Given the description of an element on the screen output the (x, y) to click on. 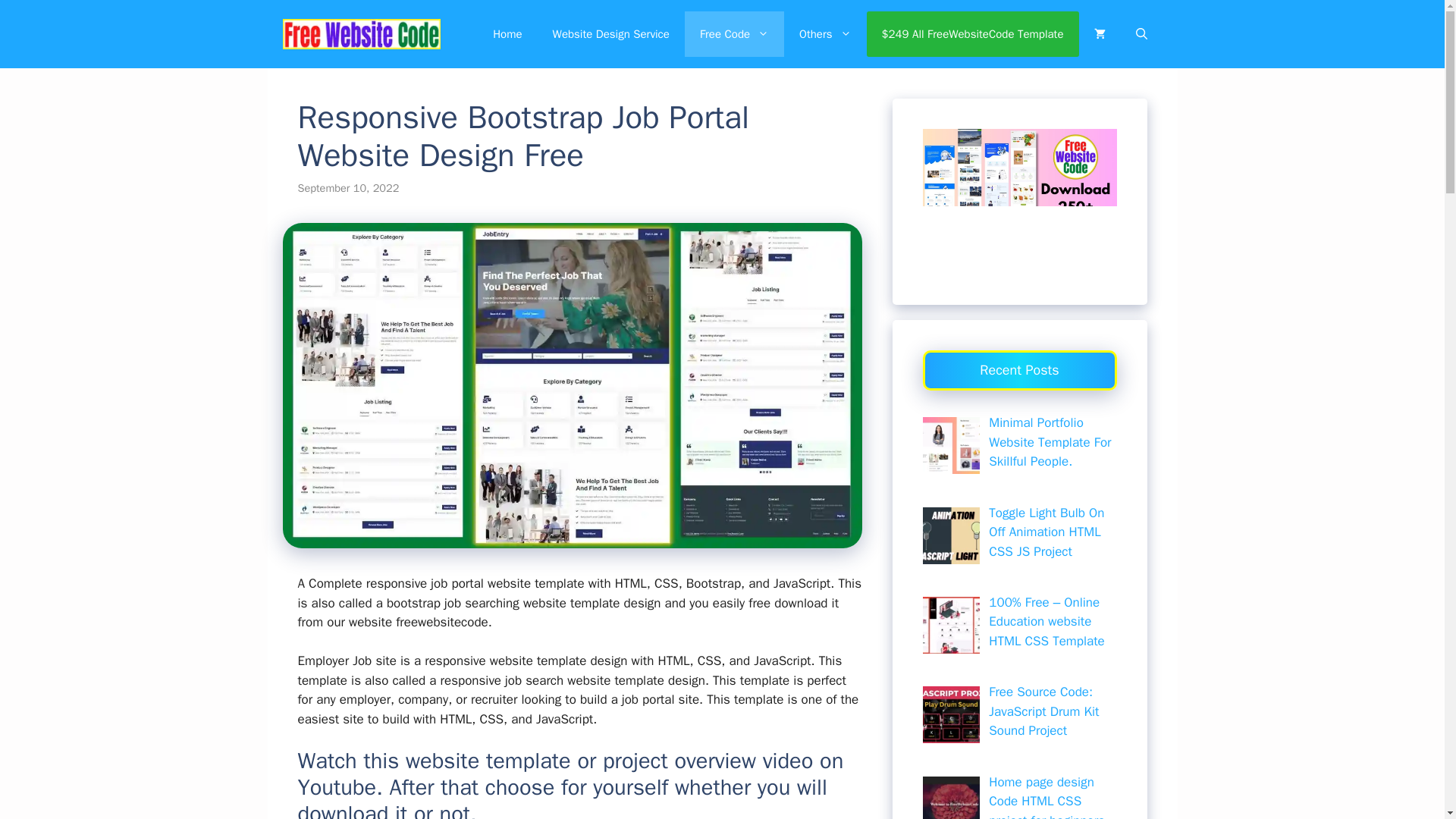
View your shopping cart (1098, 33)
Minimal Portfolio Website Template For Skillful People. 2 (949, 445)
Toggle Light Bulb On Off Animation HTML CSS JS Project 3 (949, 535)
FreeWebsiteCode (361, 33)
